Given the description of an element on the screen output the (x, y) to click on. 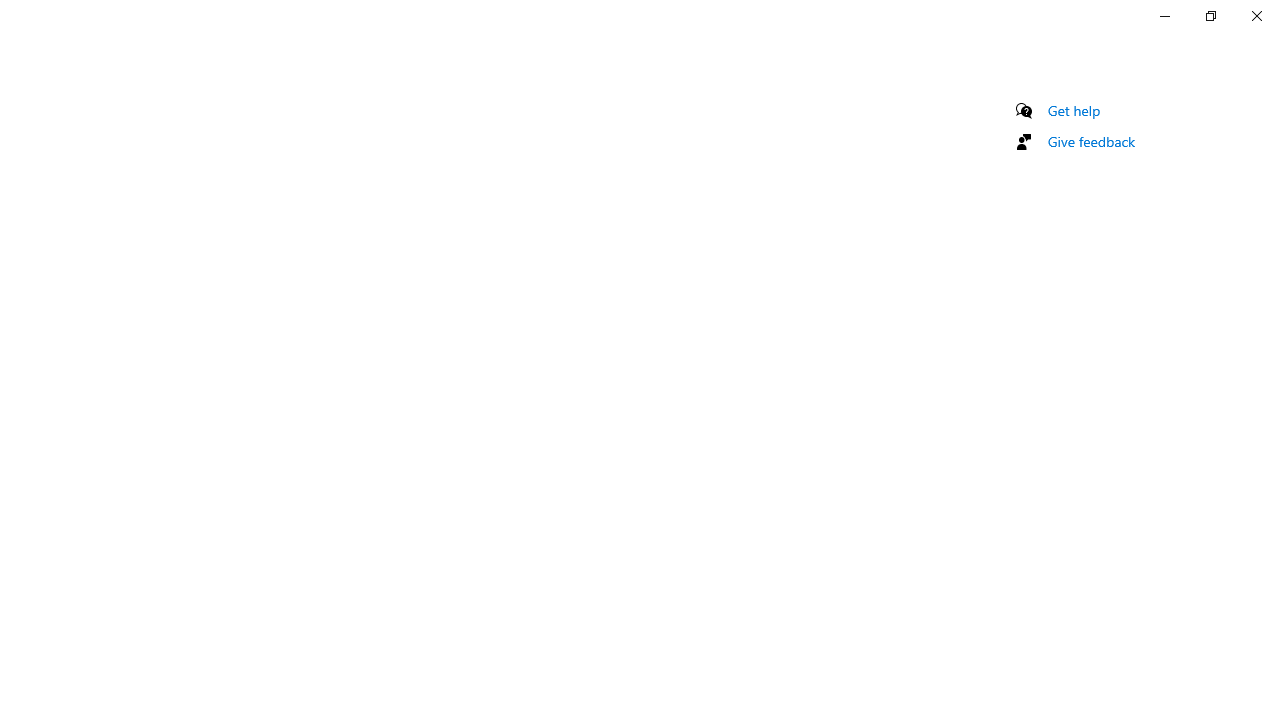
Give feedback (1091, 141)
Close Settings (1256, 15)
Restore Settings (1210, 15)
Minimize Settings (1164, 15)
Get help (1074, 110)
